Given the description of an element on the screen output the (x, y) to click on. 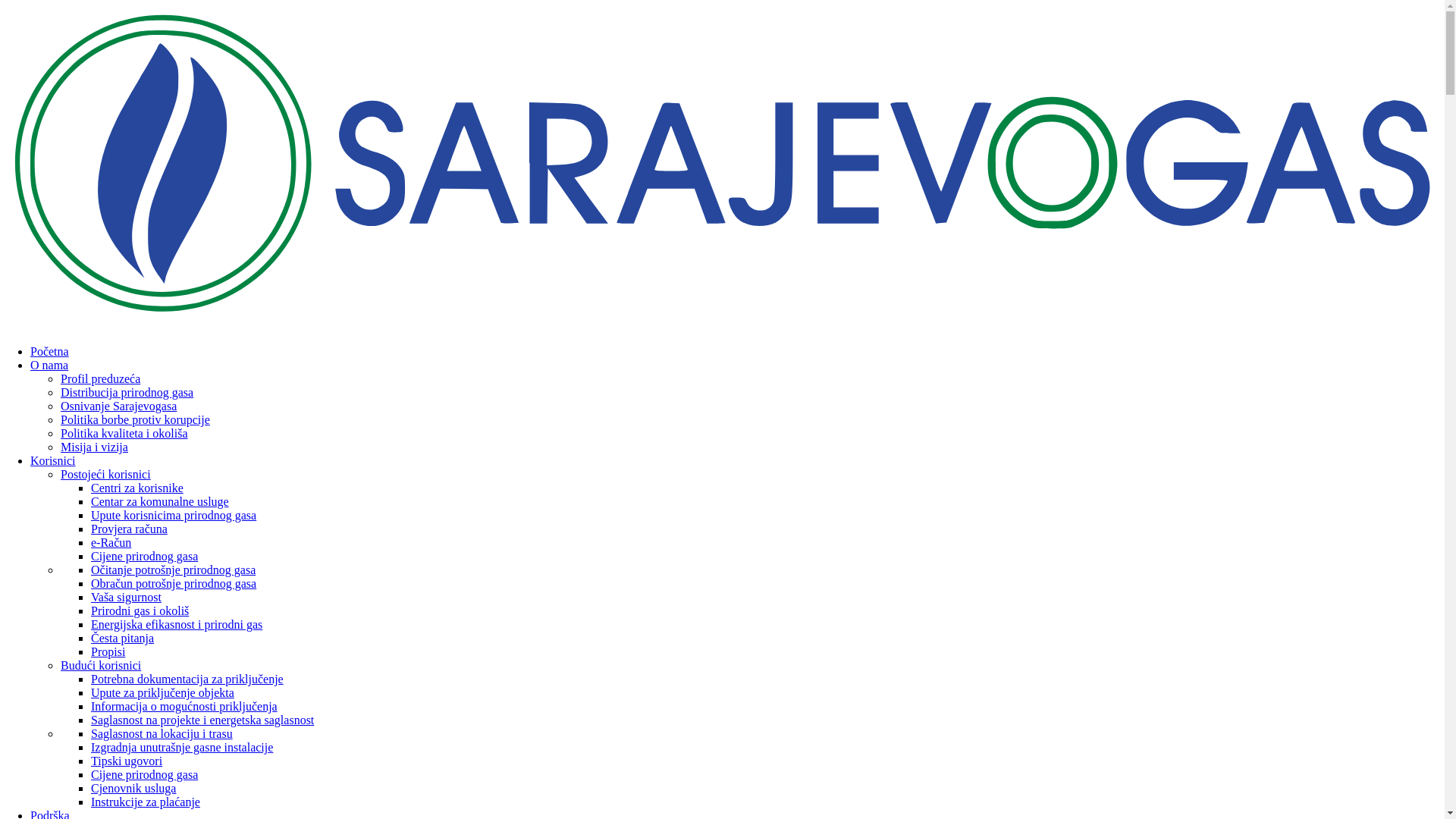
Propisi Element type: text (108, 651)
Politika borbe protiv korupcije Element type: text (135, 419)
Korisnici Element type: text (52, 460)
Energijska efikasnost i prirodni gas Element type: text (176, 624)
Misija i vizija Element type: text (94, 446)
Tipski ugovori Element type: text (126, 760)
O nama Element type: text (49, 364)
Saglasnost na lokaciju i trasu Element type: text (161, 733)
Centar za komunalne usluge Element type: text (160, 501)
Cjenovnik usluga Element type: text (133, 787)
Upute korisnicima prirodnog gasa Element type: text (173, 514)
Centri za korisnike Element type: text (137, 487)
Osnivanje Sarajevogasa Element type: text (118, 405)
Cijene prirodnog gasa Element type: text (144, 774)
Distribucija prirodnog gasa Element type: text (126, 391)
Cijene prirodnog gasa Element type: text (144, 555)
Saglasnost na projekte i energetska saglasnost Element type: text (202, 719)
